Given the description of an element on the screen output the (x, y) to click on. 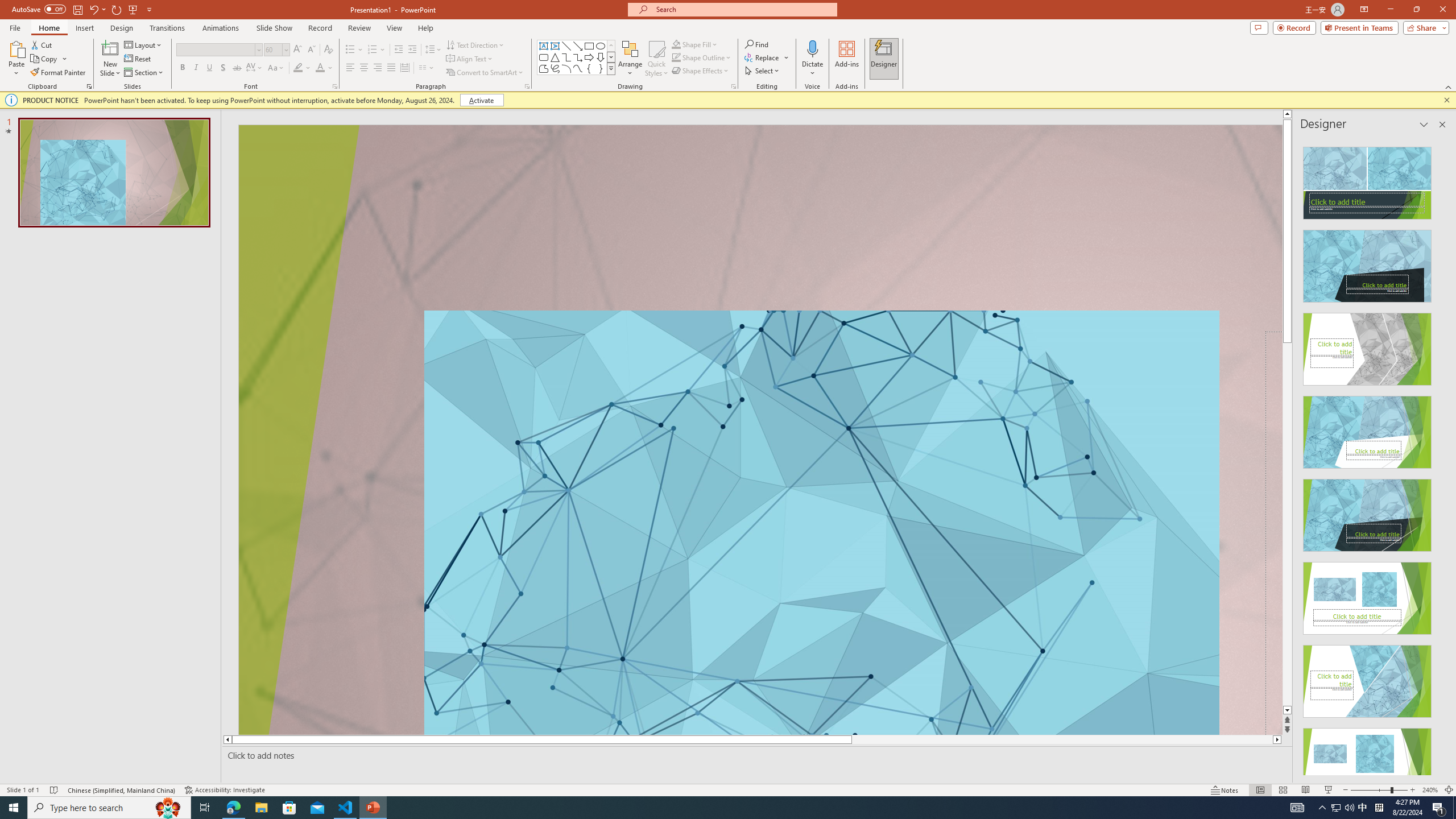
Shape Fill Orange, Accent 2 (675, 44)
